Given the description of an element on the screen output the (x, y) to click on. 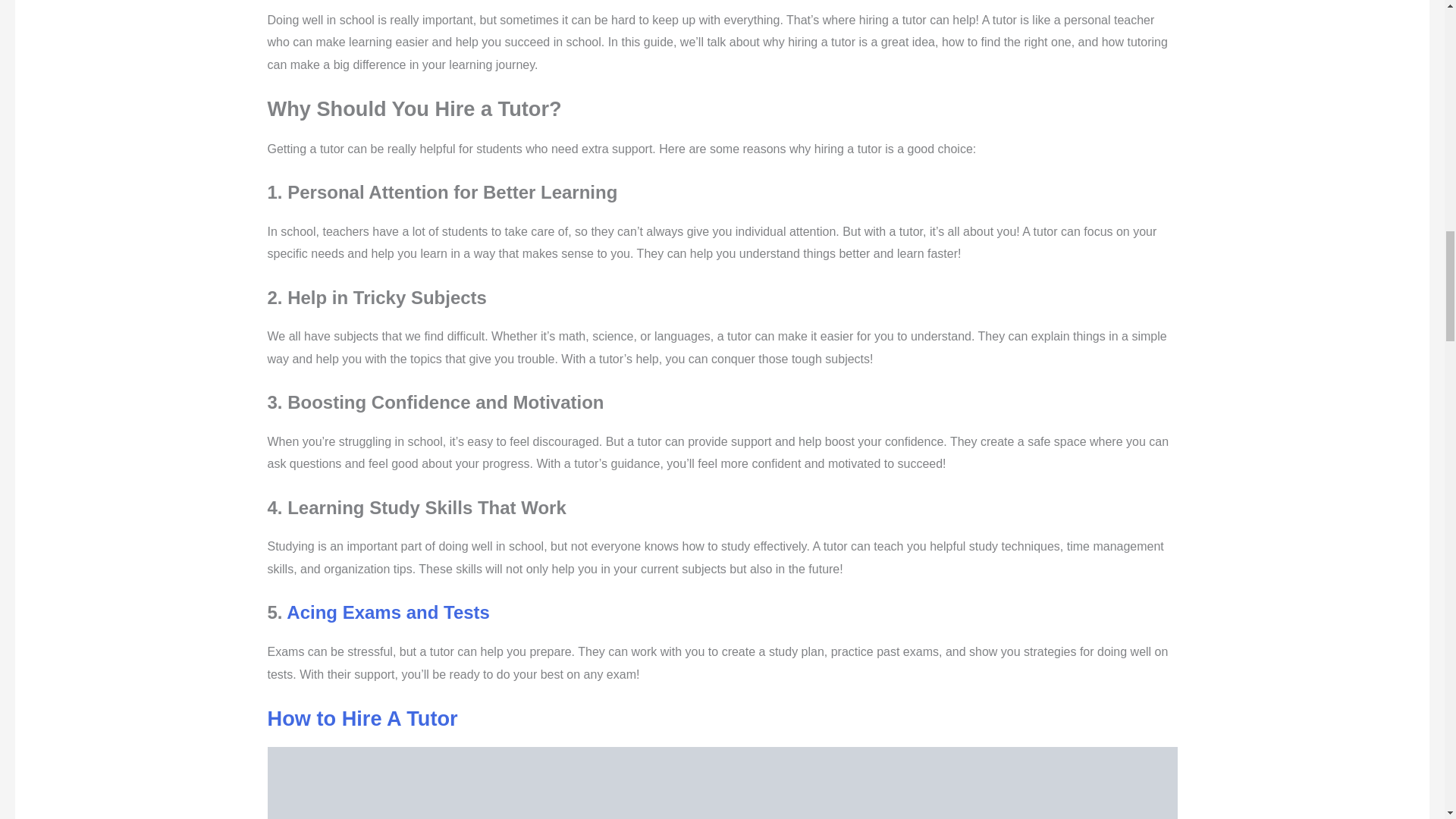
Acing Exams and Tests (387, 611)
How to Hire A Tutor (361, 718)
